Given the description of an element on the screen output the (x, y) to click on. 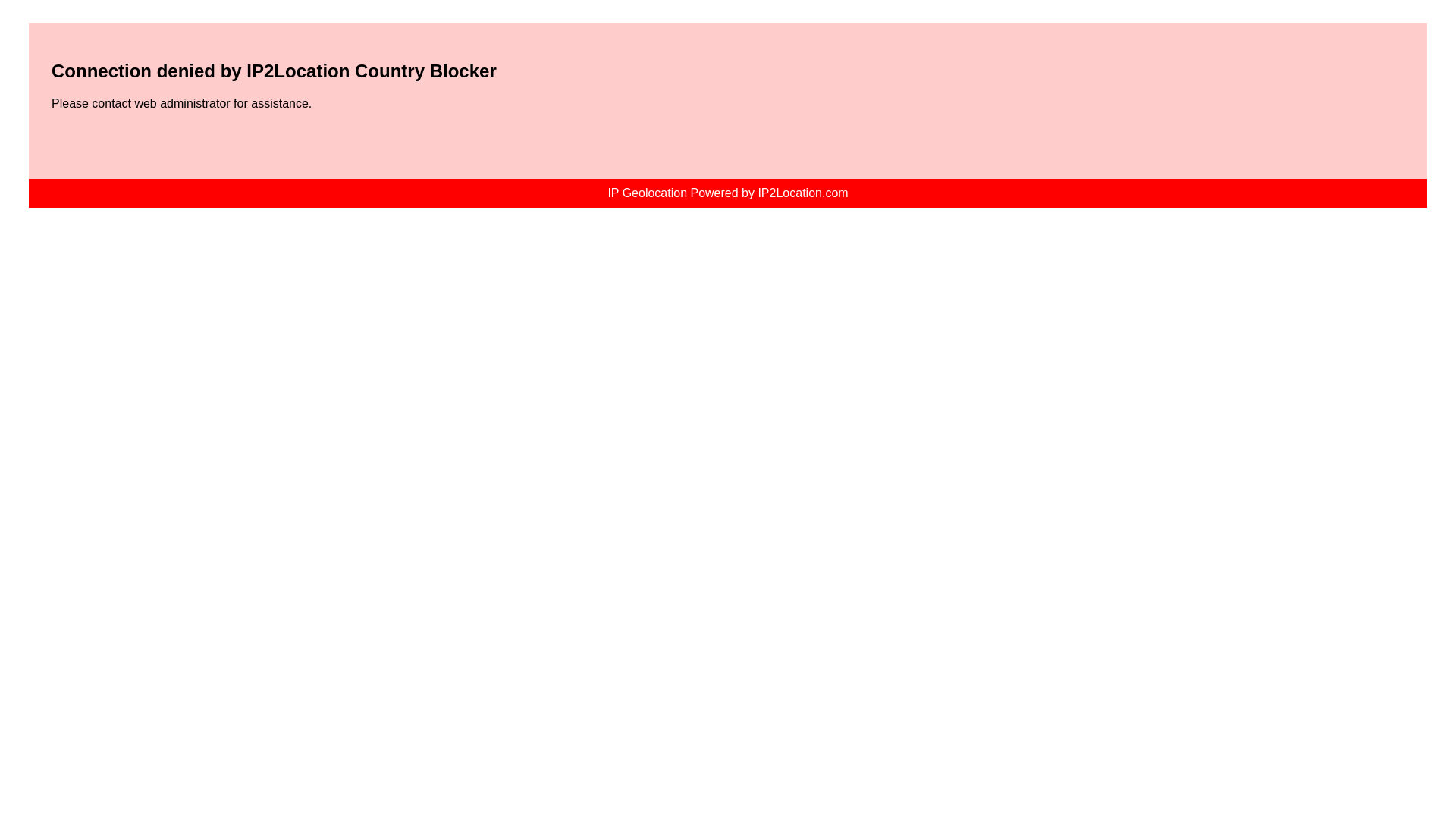
IP Geolocation Powered by IP2Location.com (727, 192)
